Given the description of an element on the screen output the (x, y) to click on. 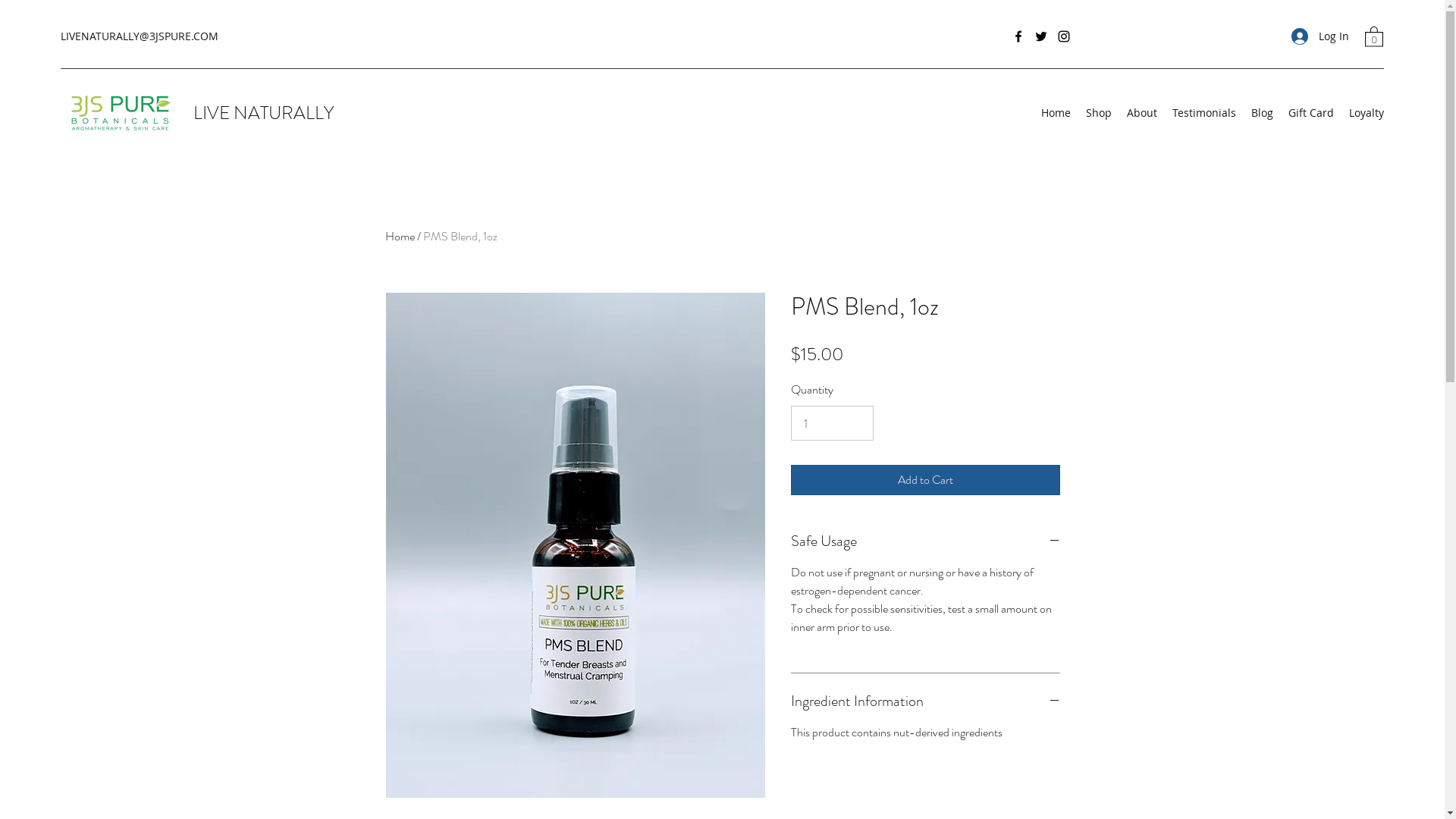
Safe Usage Element type: text (924, 540)
Blog Element type: text (1261, 112)
Add to Cart Element type: text (924, 479)
Testimonials Element type: text (1203, 112)
Gift Card Element type: text (1310, 112)
Home Element type: text (399, 235)
Ingredient Information Element type: text (924, 700)
Shop Element type: text (1098, 112)
0 Element type: text (1374, 36)
About Element type: text (1141, 112)
Log In Element type: text (1319, 36)
Home Element type: text (1055, 112)
LIVENATURALLY@3JSPURE.COM Element type: text (139, 35)
PMS Blend, 1oz Element type: text (460, 235)
Loyalty Element type: text (1366, 112)
